Given the description of an element on the screen output the (x, y) to click on. 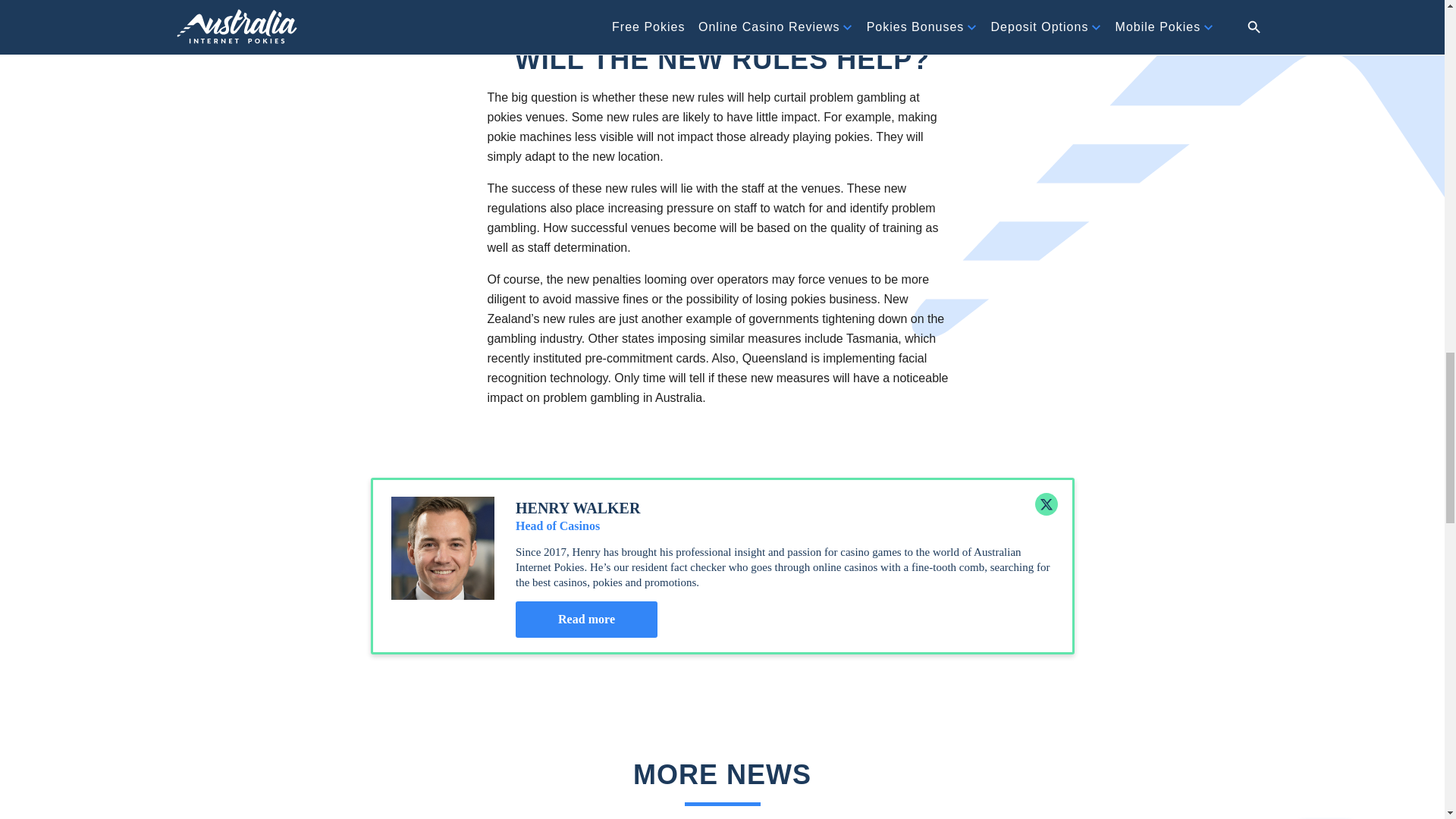
Read more (586, 618)
